Given the description of an element on the screen output the (x, y) to click on. 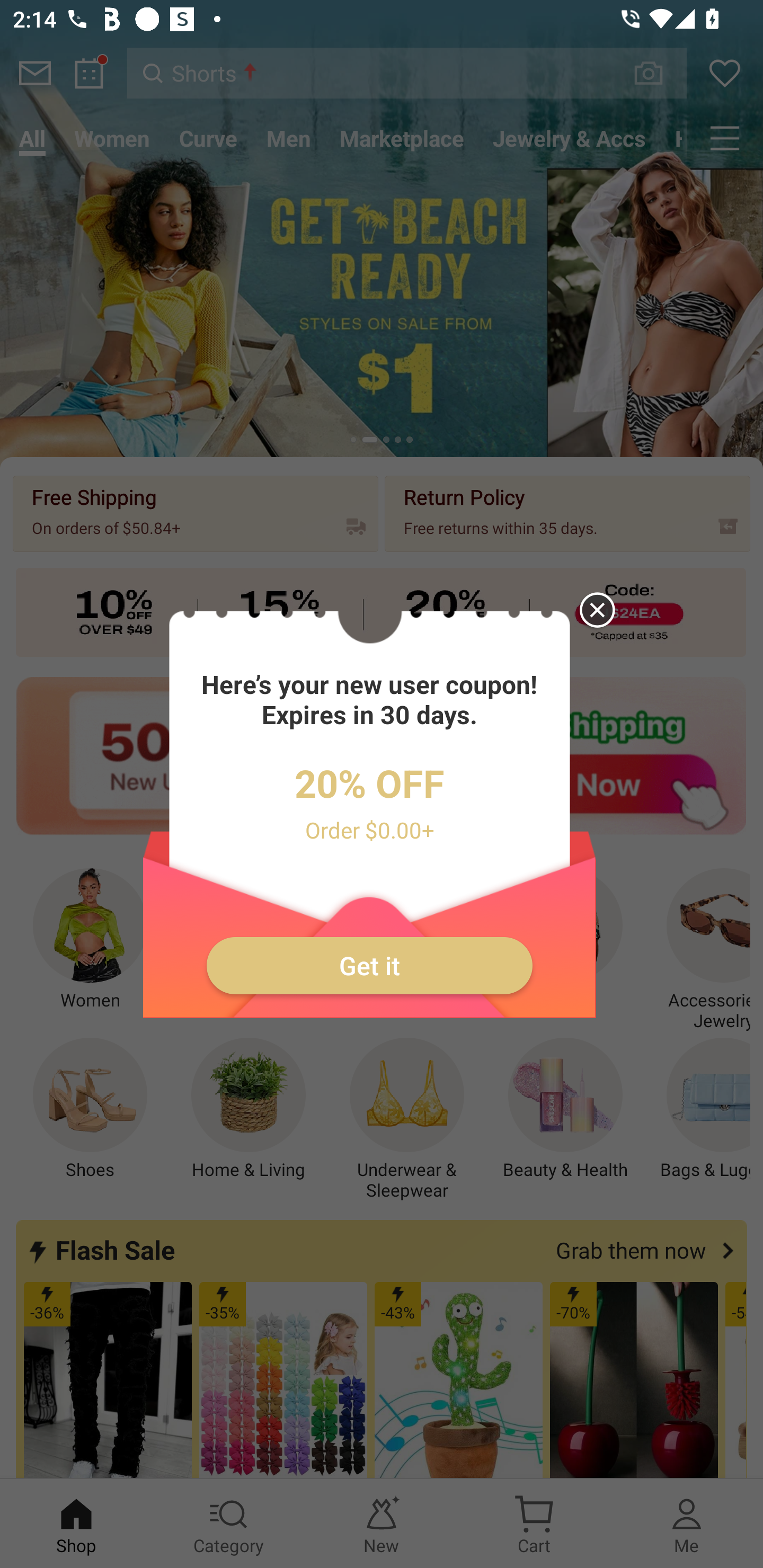
Close (587, 619)
Get it (369, 965)
